Given the description of an element on the screen output the (x, y) to click on. 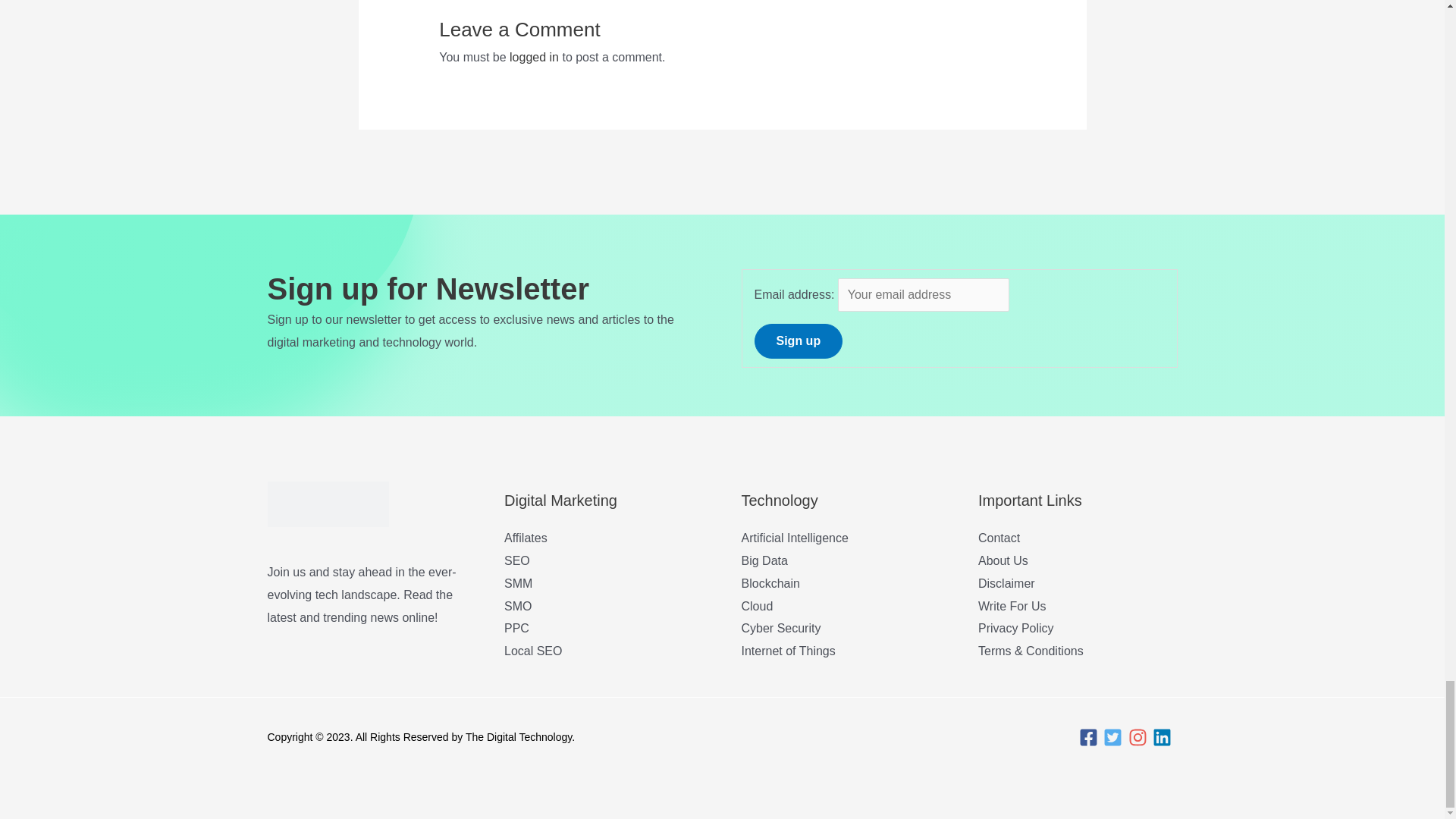
Sign up (798, 340)
